Given the description of an element on the screen output the (x, y) to click on. 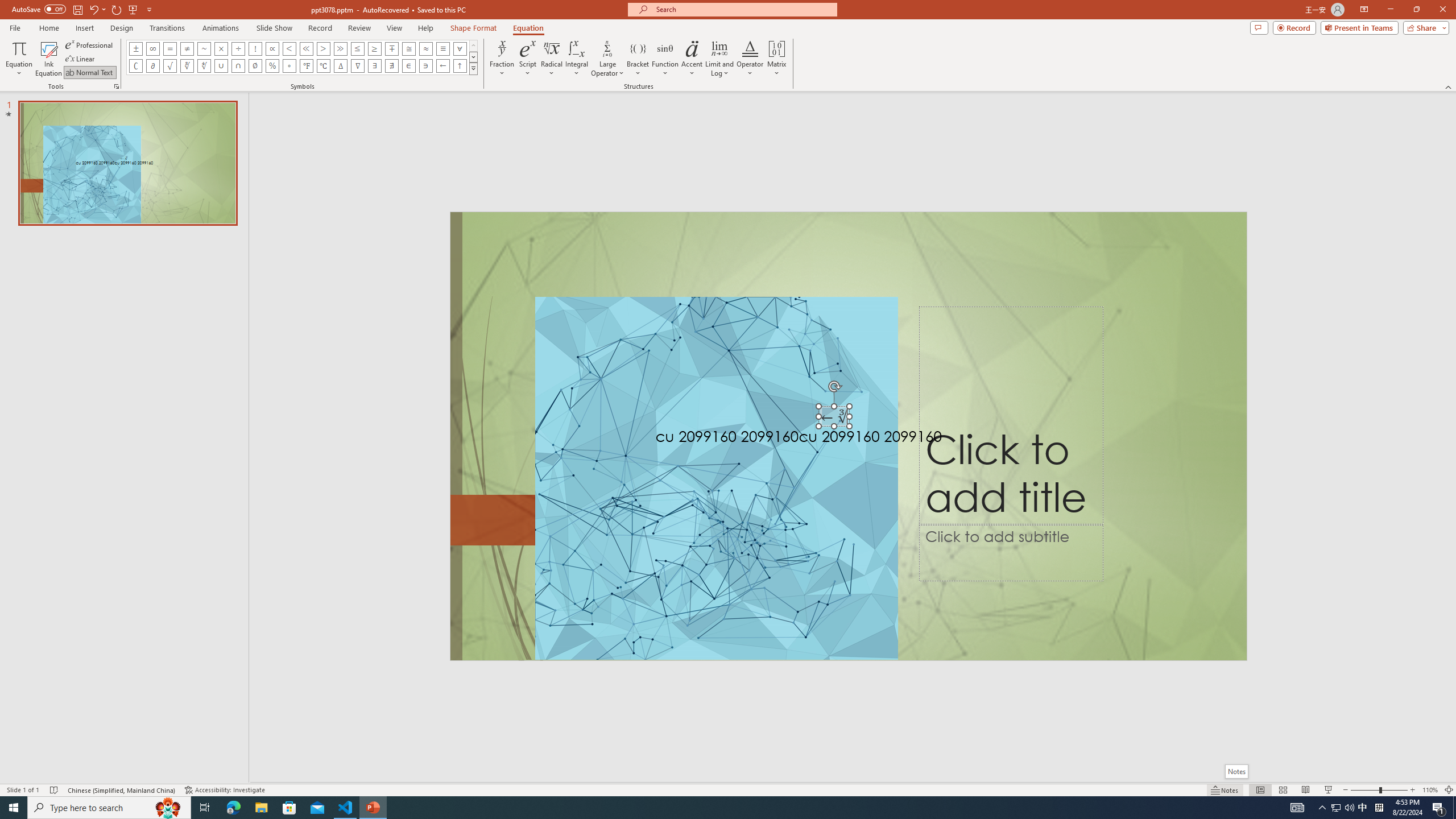
Equation Symbol Proportional To (272, 48)
Equation Options... (116, 85)
Accent (691, 58)
Equation Symbol Left Arrow (442, 65)
Equation Symbol Plus Minus (136, 48)
Equation Symbol Factorial (255, 48)
Equation Symbol Equal (170, 48)
Equation Symbol Up Arrow (459, 65)
Equation Symbol There Exists (374, 65)
Equation Symbol Radical Sign (170, 65)
